Given the description of an element on the screen output the (x, y) to click on. 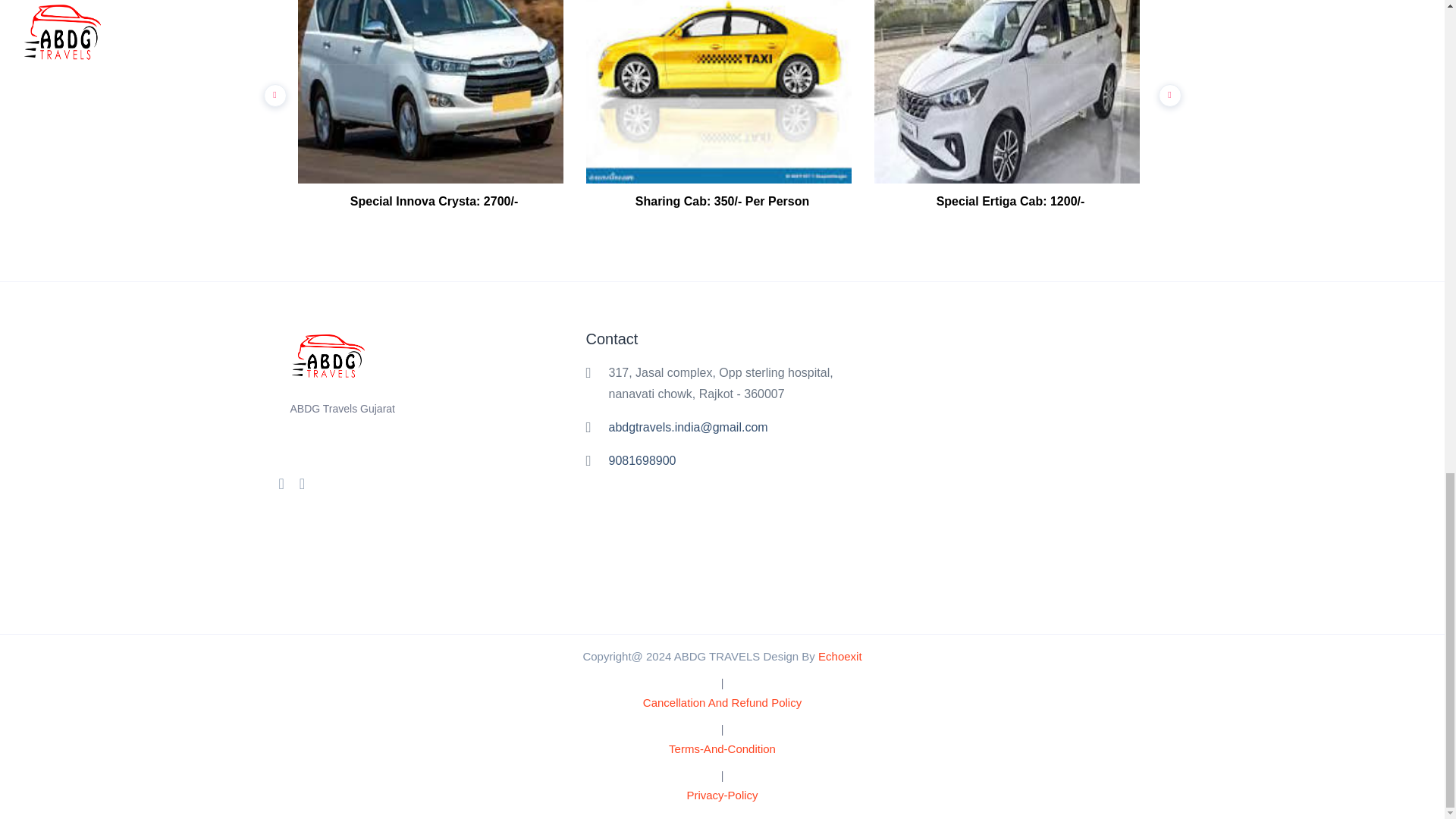
Echoexit (839, 656)
Terms-And-Condition (722, 748)
Privacy-Policy (721, 794)
Echoexit (839, 656)
Next (1165, 91)
9081698900 (641, 460)
Previous (271, 91)
Cancellation And Refund Policy (722, 702)
